Given the description of an element on the screen output the (x, y) to click on. 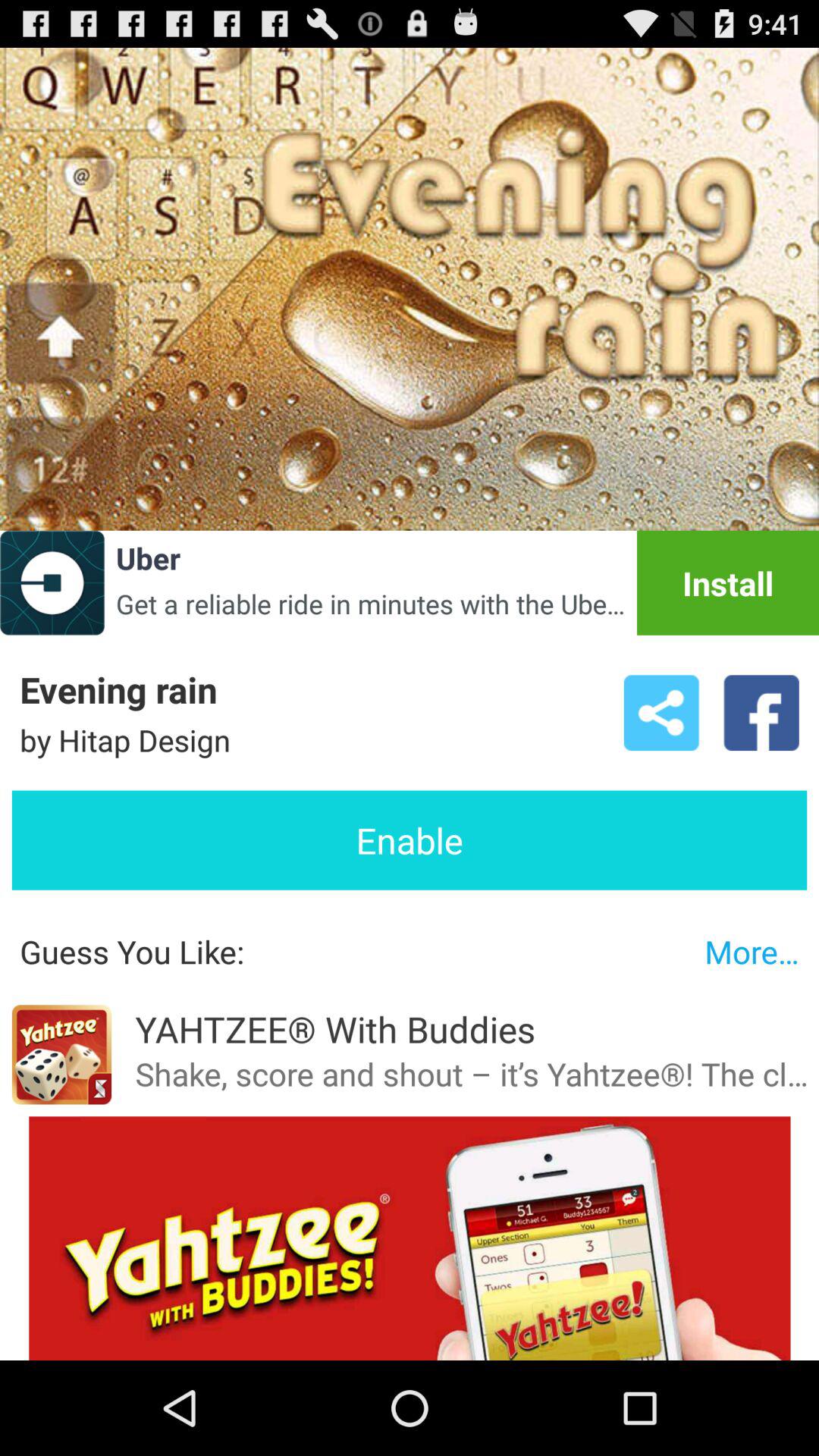
tap icon next to the by hitap design icon (661, 712)
